Given the description of an element on the screen output the (x, y) to click on. 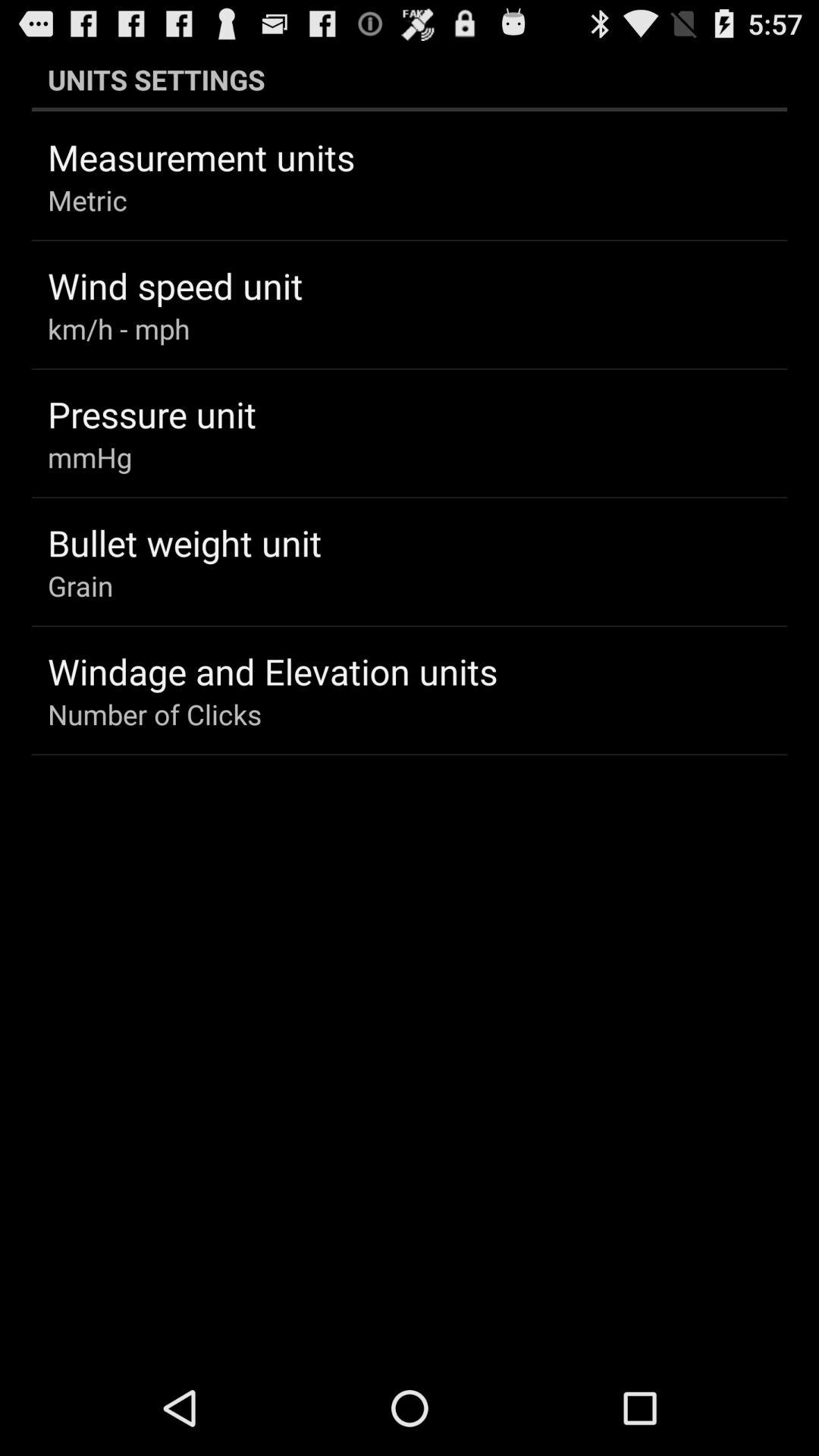
choose item below grain item (272, 671)
